Given the description of an element on the screen output the (x, y) to click on. 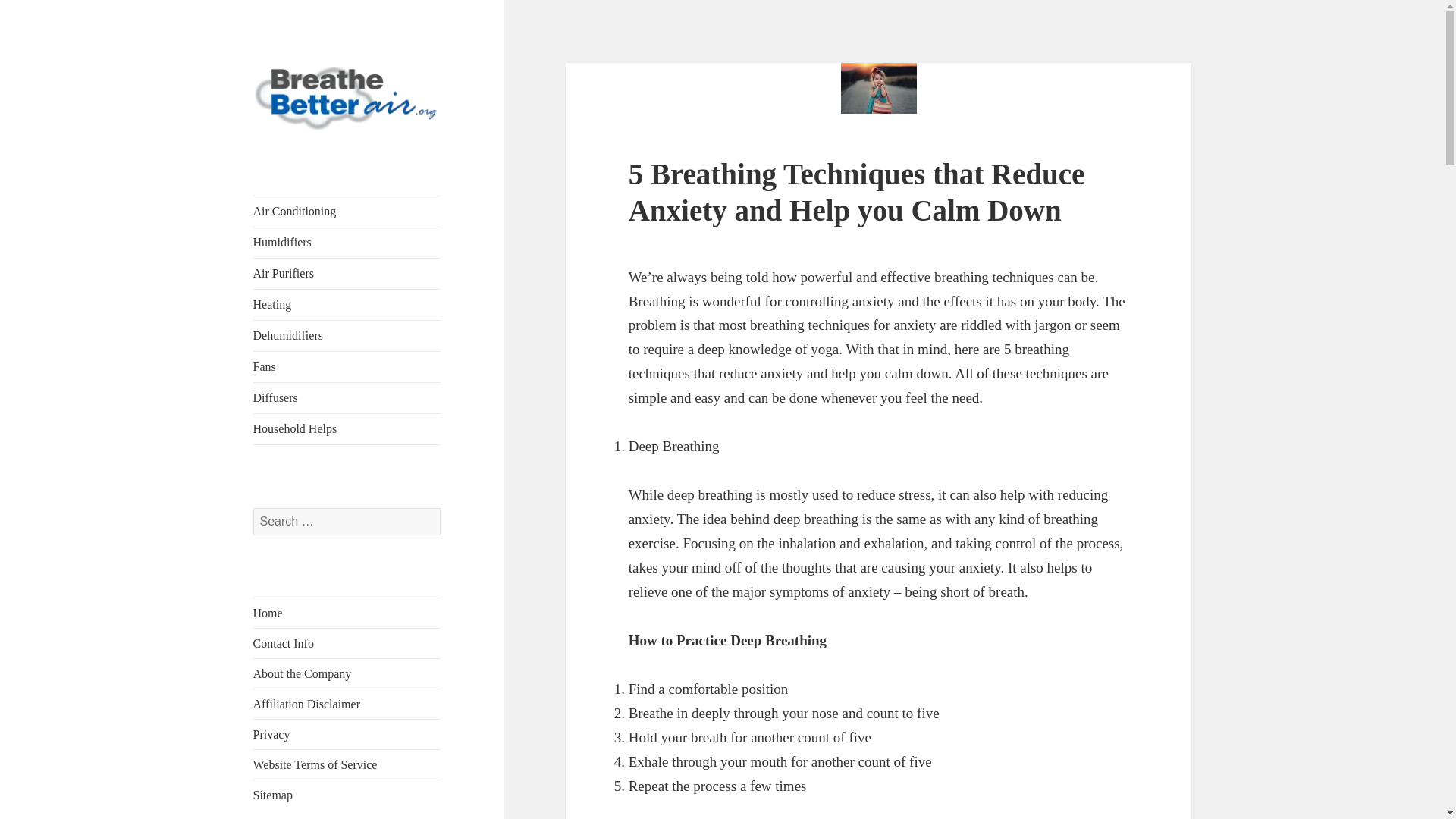
About the Company (302, 673)
Privacy (271, 734)
Heating (347, 304)
Sitemap (272, 794)
Dehumidifiers (347, 336)
Air Purifiers (347, 273)
Website Terms of Service (315, 764)
Household Helps (347, 429)
Humidifiers (347, 242)
Fans (347, 367)
Contact Info (283, 643)
Affiliation Disclaimer (306, 703)
Diffusers (347, 398)
